Given the description of an element on the screen output the (x, y) to click on. 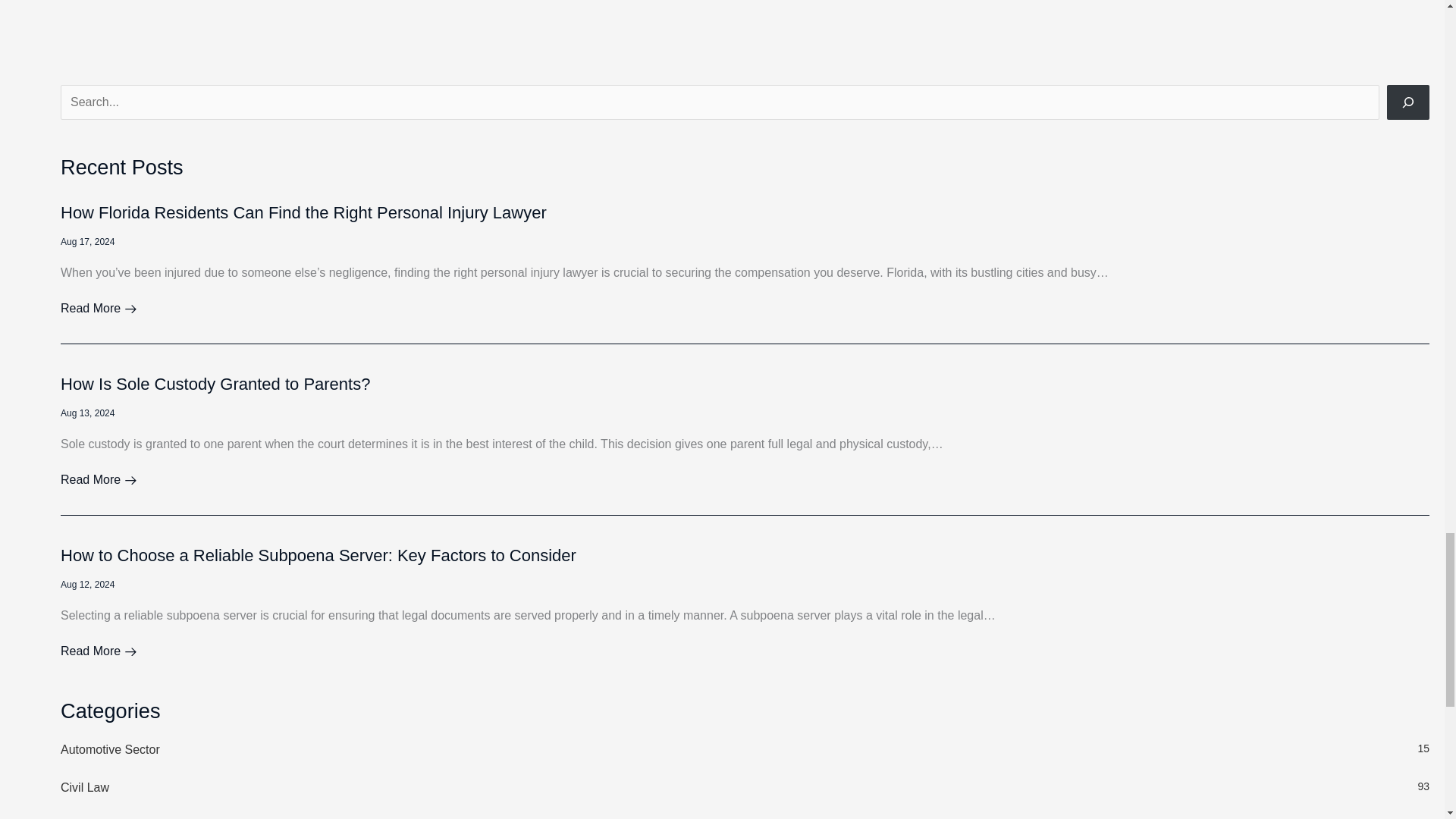
Read More (98, 308)
Read More (98, 651)
How Is Sole Custody Granted to Parents? (745, 787)
Read More (215, 383)
